Given the description of an element on the screen output the (x, y) to click on. 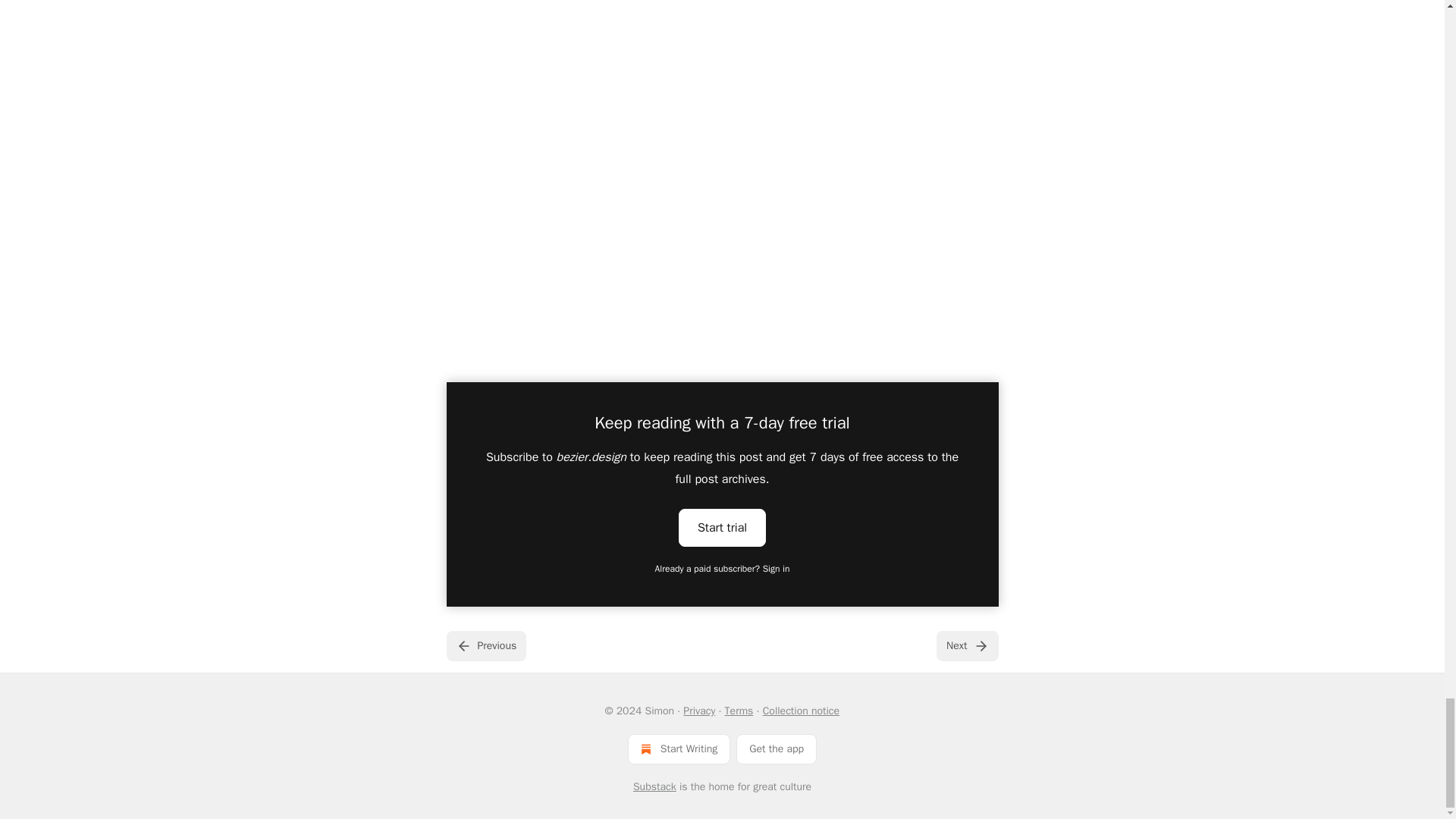
Next (966, 645)
Privacy (698, 710)
Collection notice (801, 710)
Start trial (721, 527)
Start trial (721, 526)
Previous (485, 645)
Already a paid subscriber? Sign in (722, 568)
Terms (739, 710)
